Given the description of an element on the screen output the (x, y) to click on. 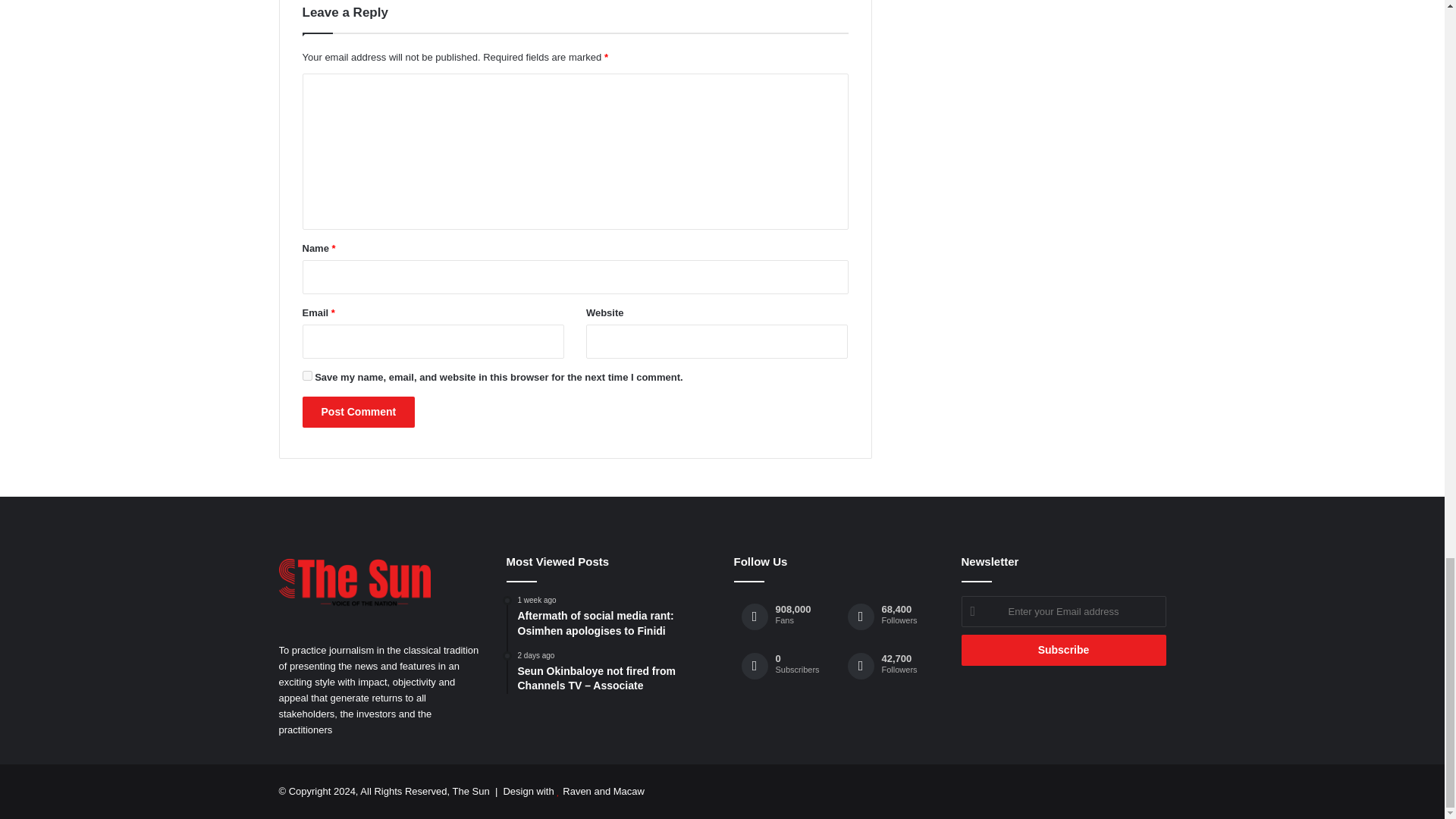
yes (306, 375)
Subscribe (1063, 649)
Post Comment (357, 411)
